Given the description of an element on the screen output the (x, y) to click on. 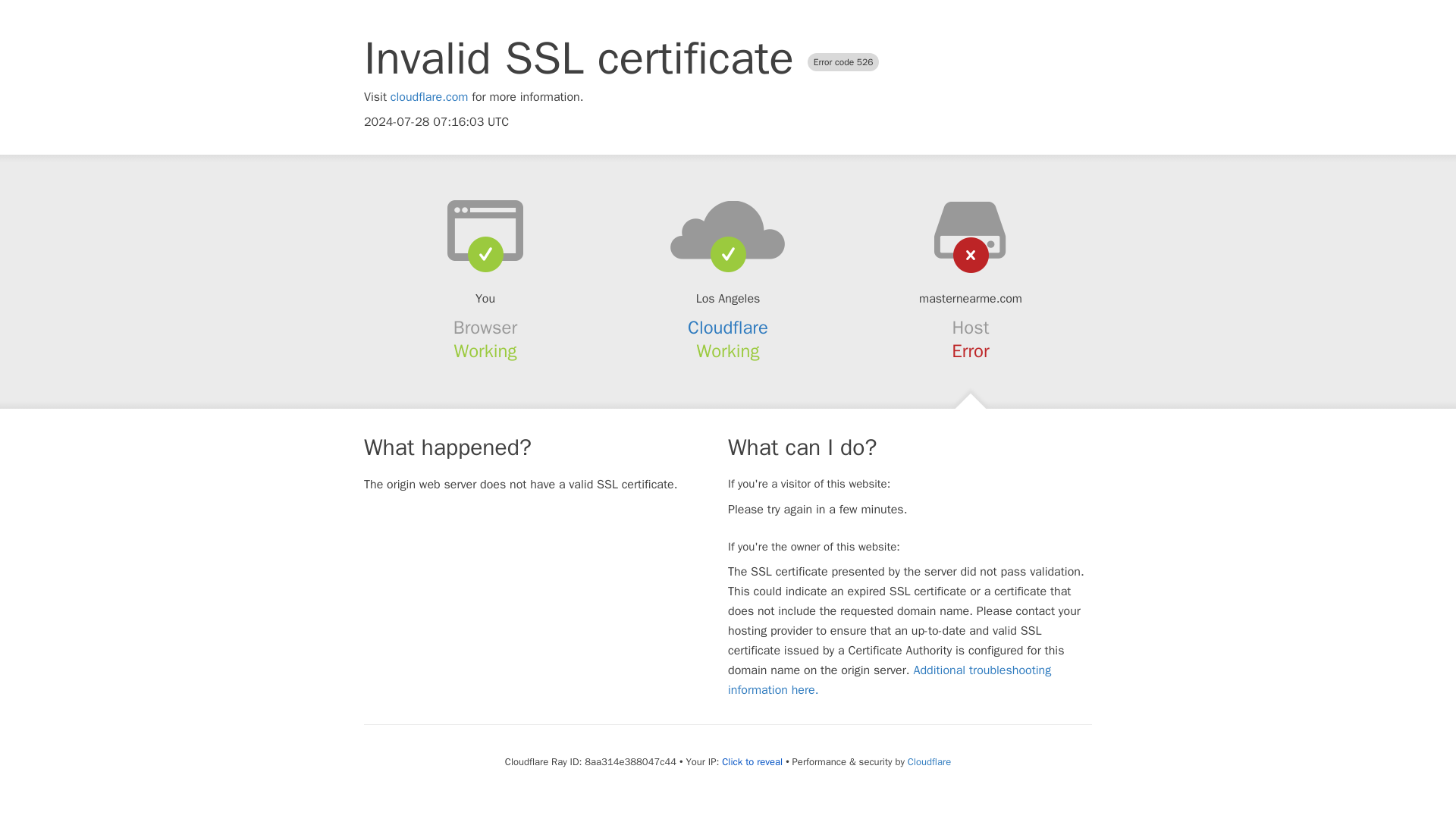
Cloudflare (928, 761)
Cloudflare (727, 327)
Click to reveal (752, 762)
Additional troubleshooting information here. (889, 679)
cloudflare.com (429, 96)
